Given the description of an element on the screen output the (x, y) to click on. 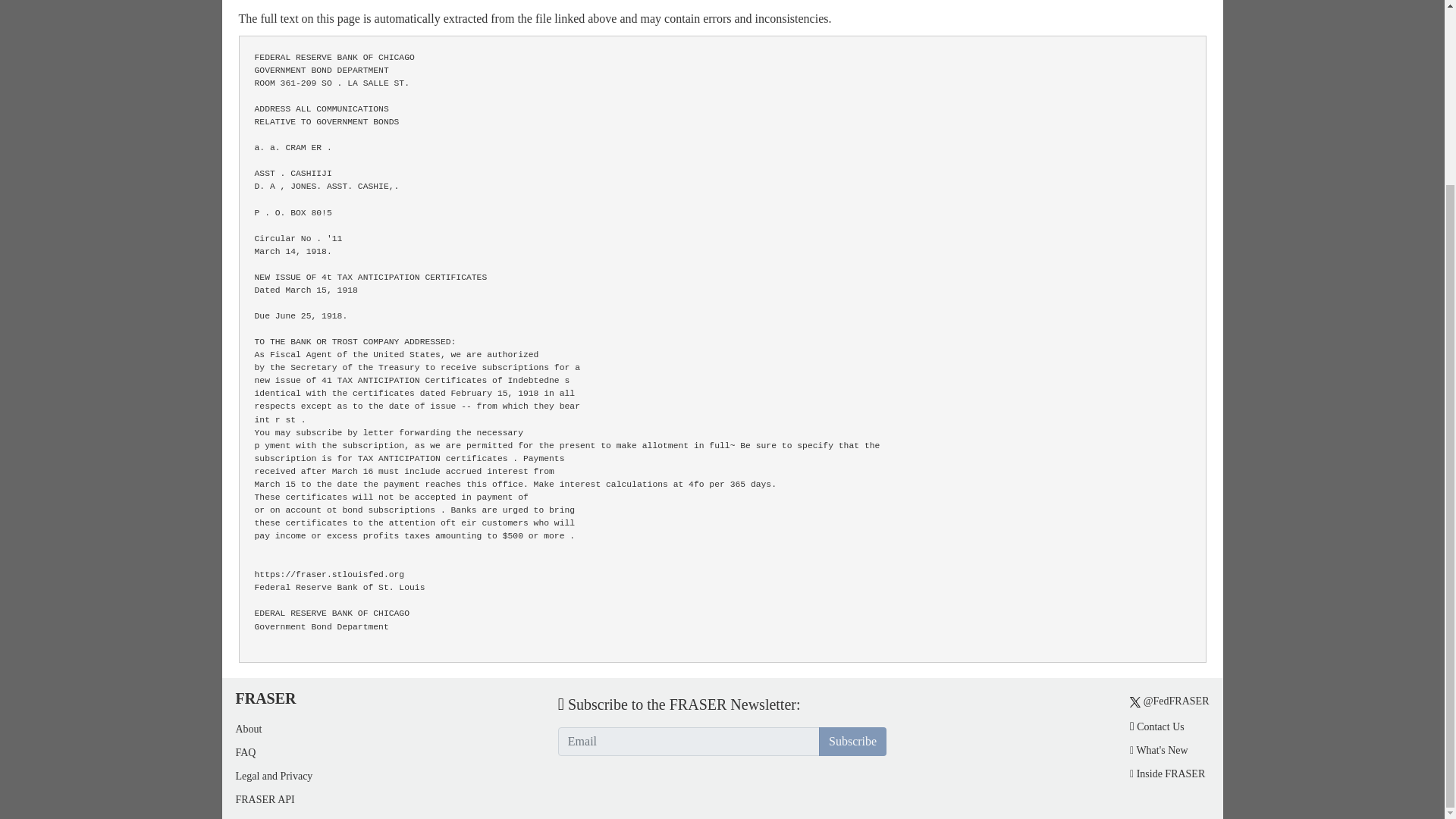
FAQ (245, 752)
Legal and Privacy (273, 776)
FRASER API (264, 799)
About (248, 728)
Subscribe (852, 741)
